Given the description of an element on the screen output the (x, y) to click on. 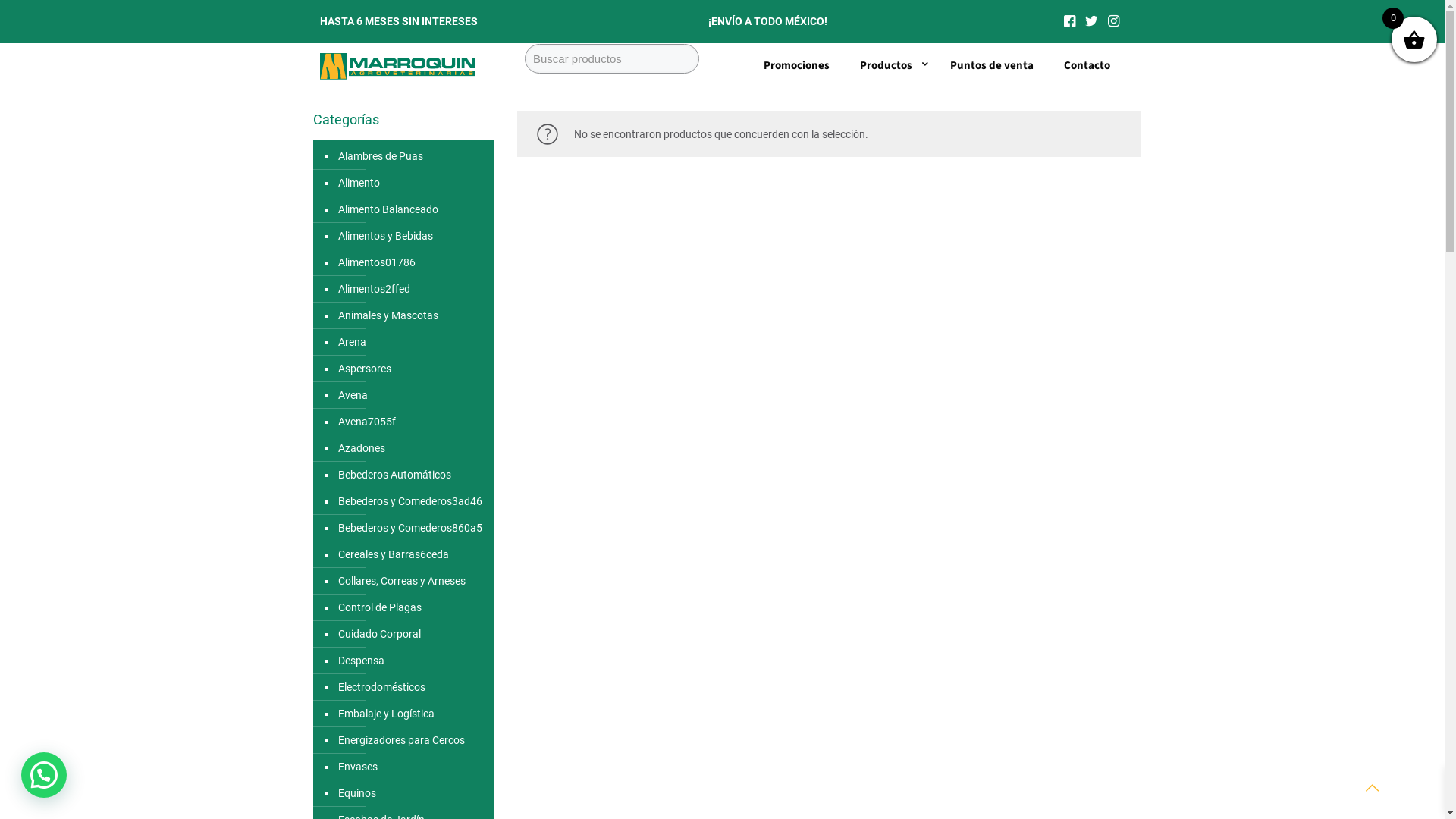
Puntos de venta Element type: text (991, 65)
Alimentos01786 Element type: text (410, 262)
Equinos Element type: text (410, 793)
Animales y Mascotas Element type: text (410, 315)
Collares, Correas y Arneses Element type: text (410, 580)
Avena7055f Element type: text (410, 421)
Alimento Balanceado Element type: text (410, 209)
Control de Plagas Element type: text (410, 607)
Avena Element type: text (410, 395)
Aspersores Element type: text (410, 368)
Bebederos y Comederos860a5 Element type: text (410, 527)
Alimento Element type: text (410, 182)
Promociones Element type: text (795, 65)
Energizadores para Cercos Element type: text (410, 740)
Cuidado Corporal Element type: text (410, 634)
Despensa Element type: text (410, 660)
Alimentos y Bebidas Element type: text (410, 235)
Alimentos2ffed Element type: text (410, 289)
Productos Element type: text (889, 65)
Azadones Element type: text (410, 448)
Cereales y Barras6ceda Element type: text (410, 554)
Arena Element type: text (410, 342)
Envases Element type: text (410, 766)
Alambres de Puas Element type: text (410, 156)
Bebederos y Comederos3ad46 Element type: text (410, 501)
Contacto Element type: text (1086, 65)
